Given the description of an element on the screen output the (x, y) to click on. 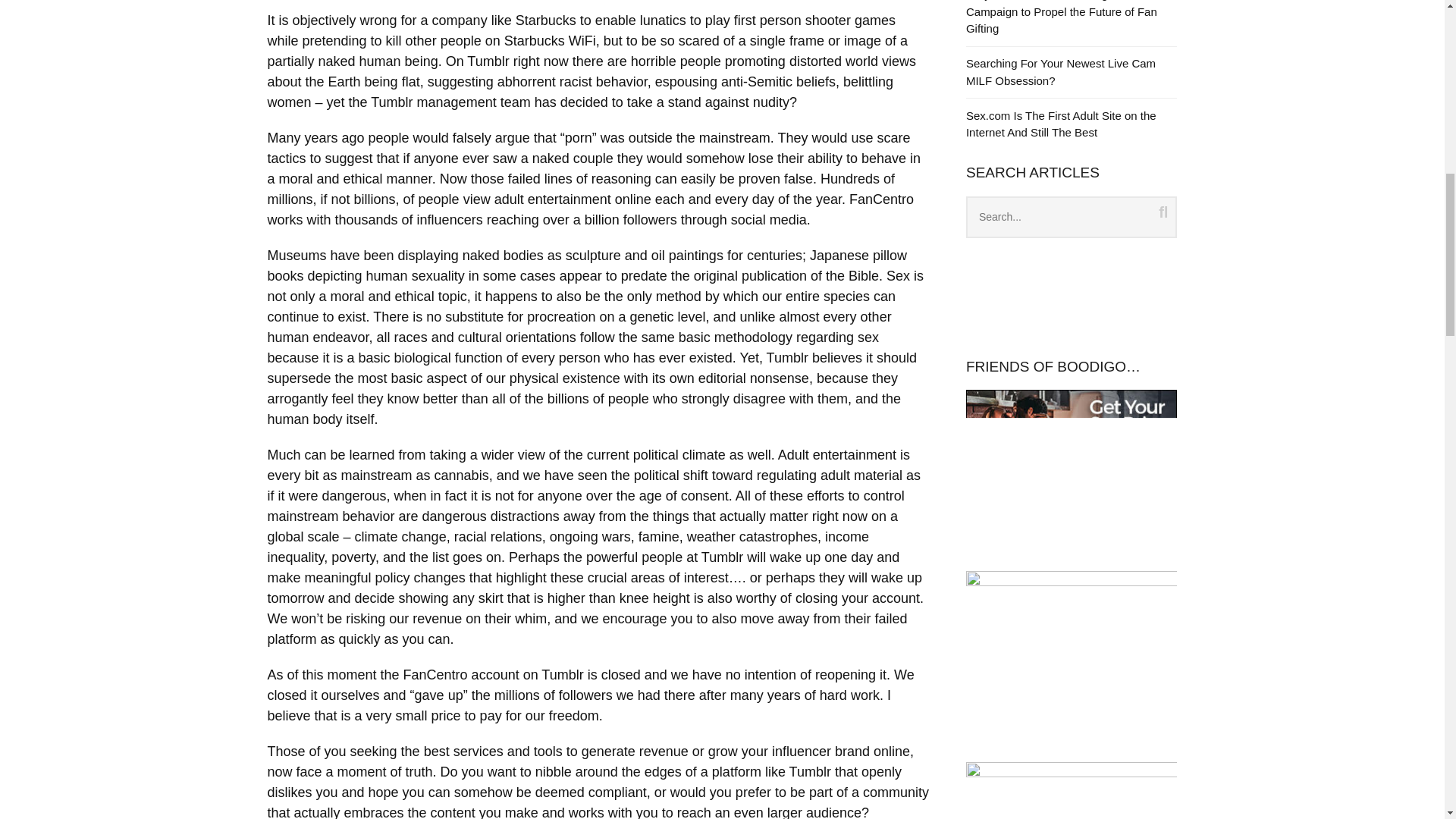
Search for: (1071, 217)
Searching For Your Newest Live Cam MILF Obsession? (1061, 71)
